Given the description of an element on the screen output the (x, y) to click on. 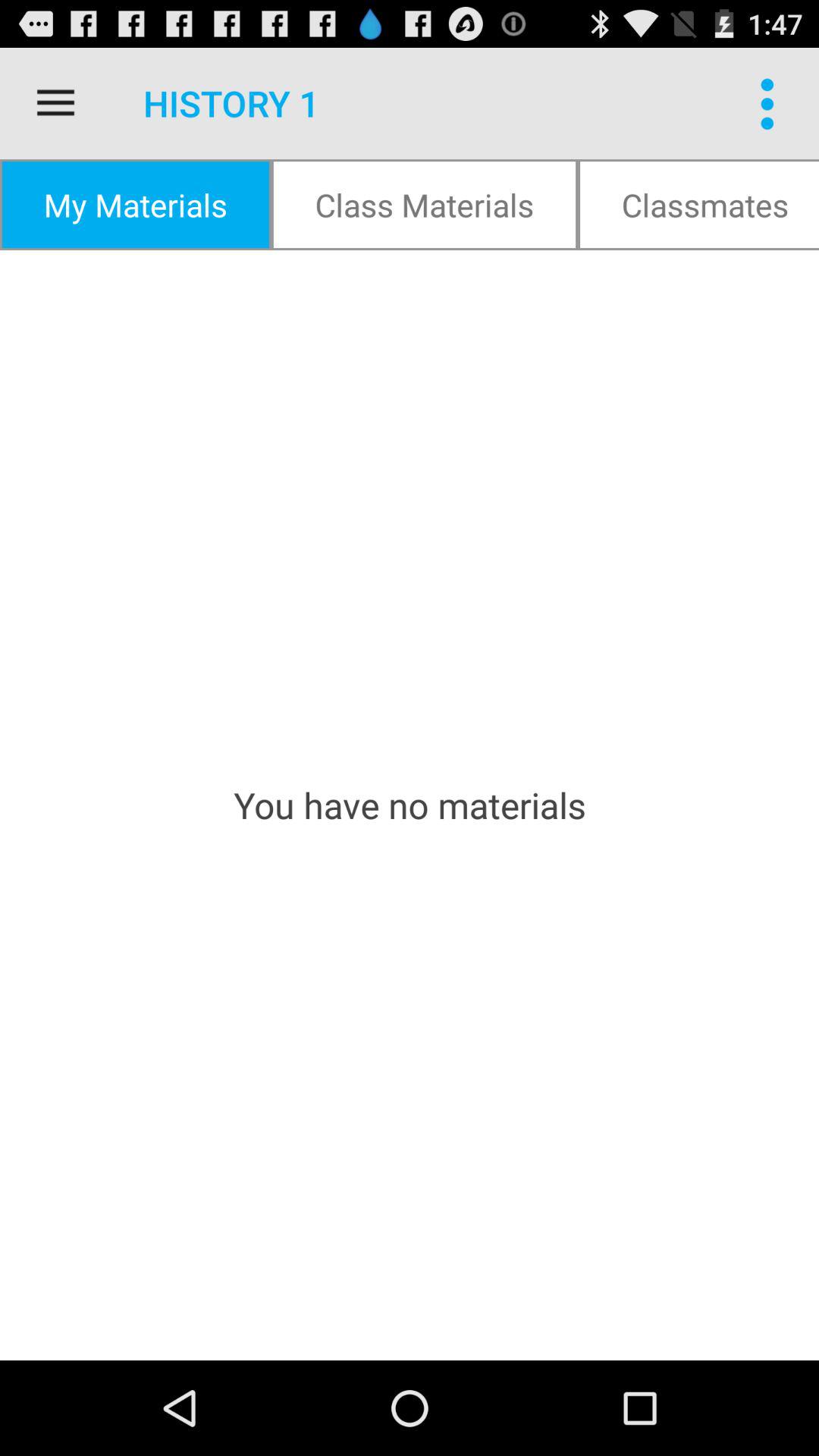
turn on my materials (135, 204)
